Given the description of an element on the screen output the (x, y) to click on. 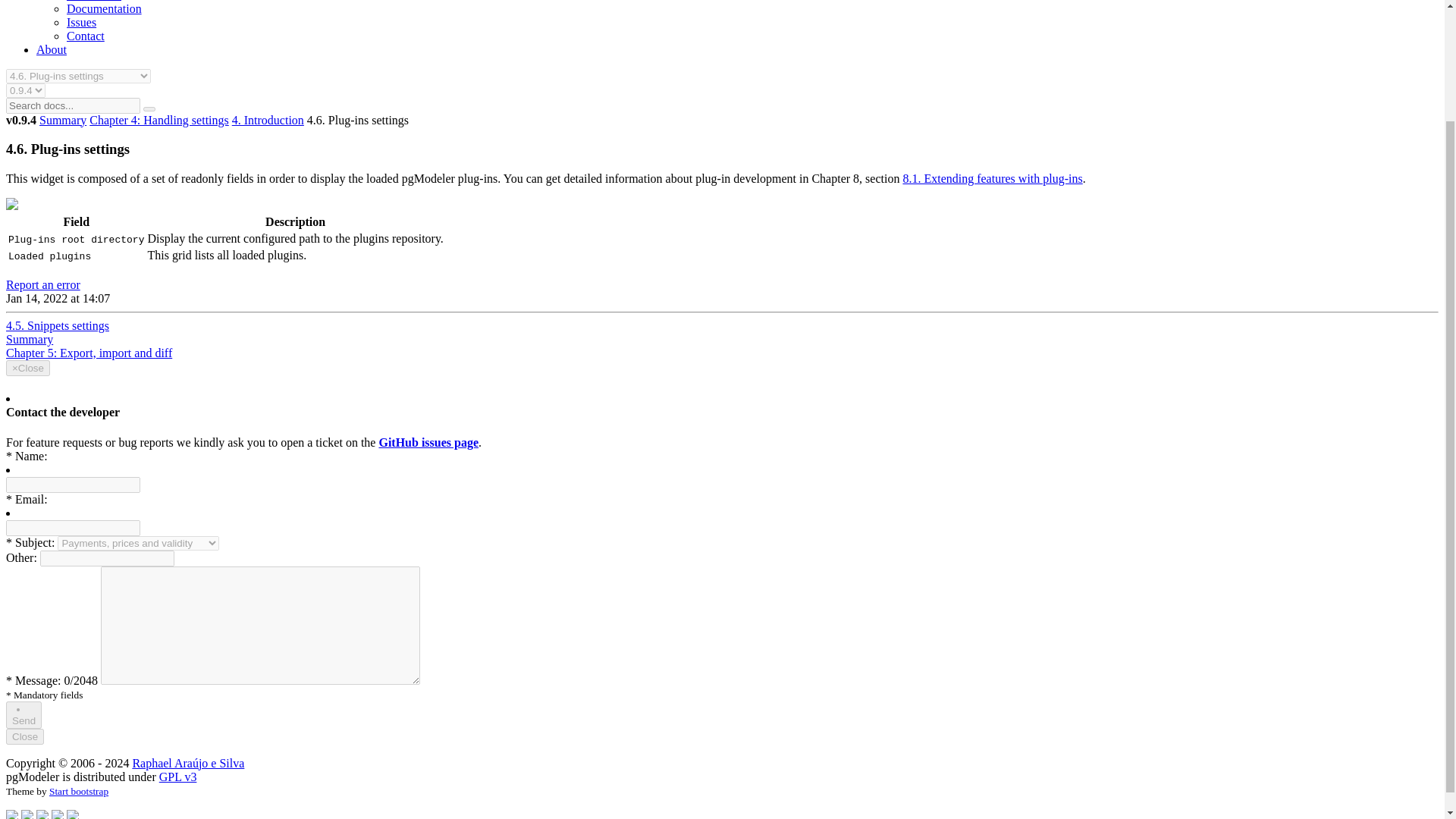
Installation (93, 0)
Start bootstrap (78, 790)
Documentation (103, 8)
8.1. Extending features with plug-ins (991, 178)
Summary (28, 338)
Report an error (42, 284)
Contact (85, 35)
Close (24, 736)
About (51, 49)
GitHub issues page (428, 441)
